Given the description of an element on the screen output the (x, y) to click on. 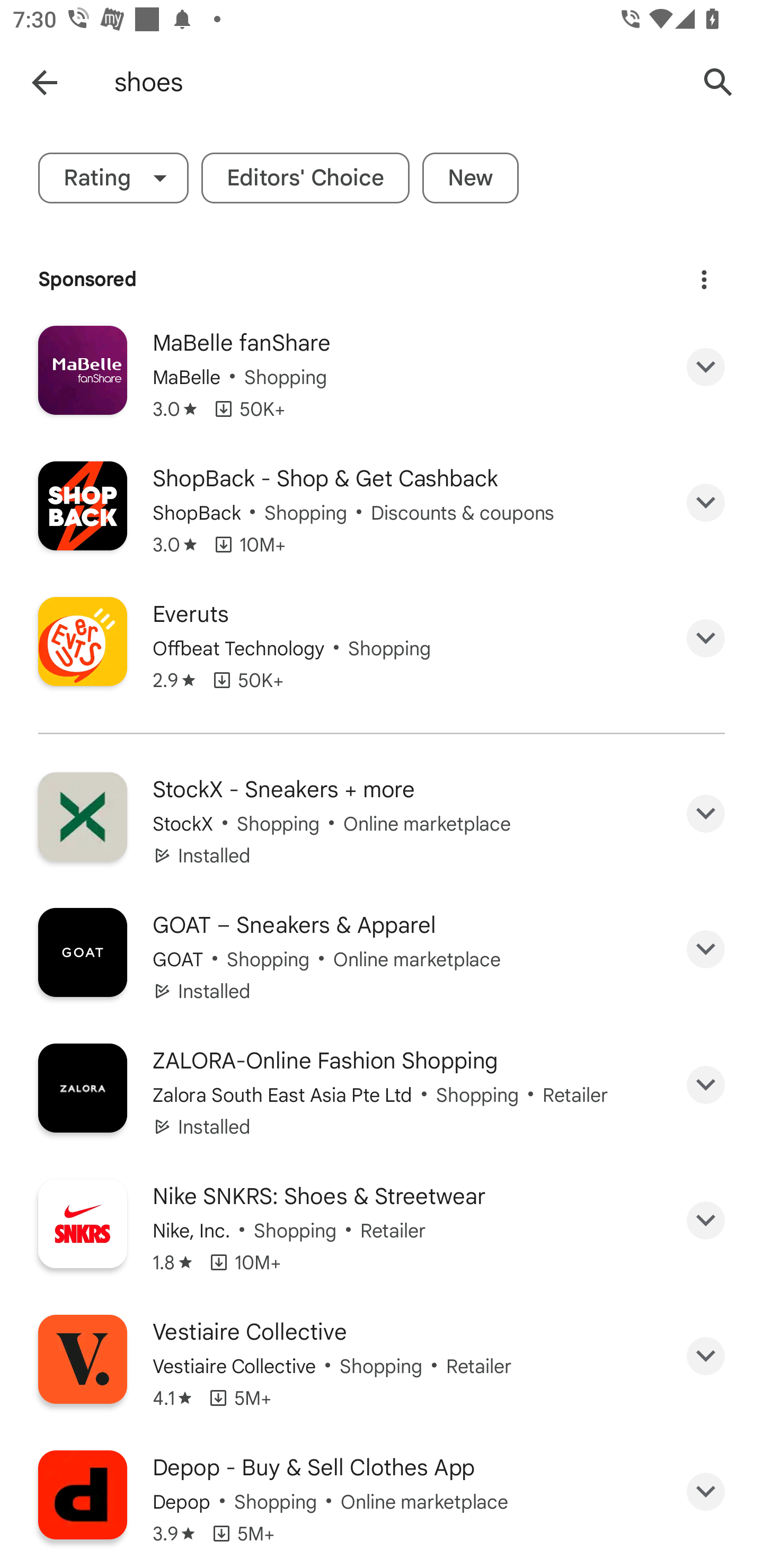
shoes (397, 82)
Navigate up (44, 81)
Search Google Play (718, 81)
Rating - double tap to change the filter (113, 177)
Editors' Choice - double tap to toggle the filter (305, 177)
New - double tap to toggle the filter (469, 177)
About this ad (704, 279)
Expand content for MaBelle fanShare (705, 366)
Expand content for ShopBack - Shop & Get Cashback (705, 502)
Expand content for Everuts (705, 637)
Expand content for StockX - Sneakers + more (705, 813)
Expand content for GOAT – Sneakers & Apparel (705, 949)
Expand content for ZALORA-Online Fashion Shopping (705, 1084)
Expand content for Nike SNKRS: Shoes & Streetwear (705, 1220)
Expand content for Vestiaire Collective (705, 1355)
Expand content for Depop - Buy & Sell Clothes App (705, 1491)
